Given the description of an element on the screen output the (x, y) to click on. 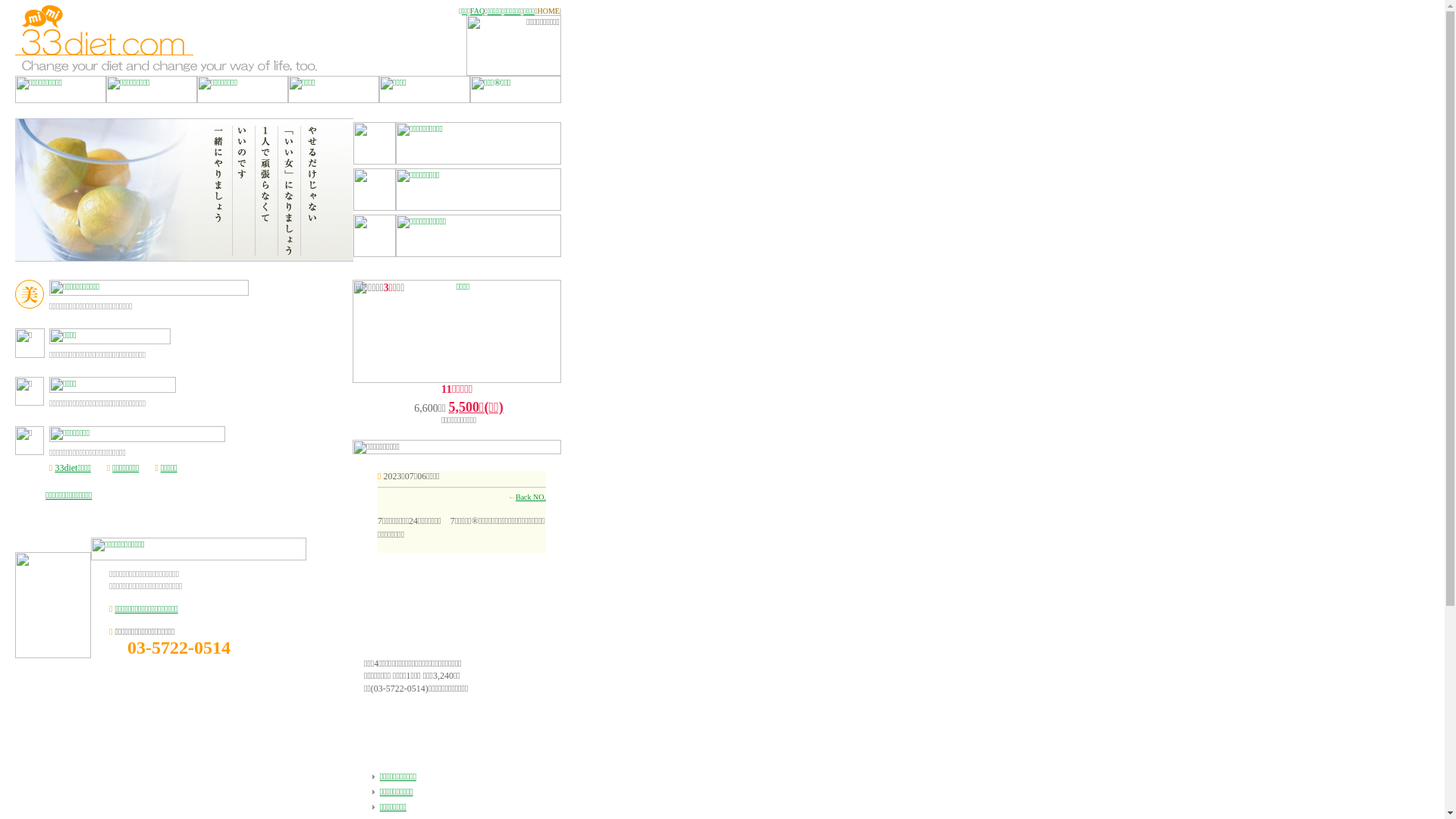
Back NO. Element type: text (530, 496)
FAQ Element type: text (477, 10)
